Given the description of an element on the screen output the (x, y) to click on. 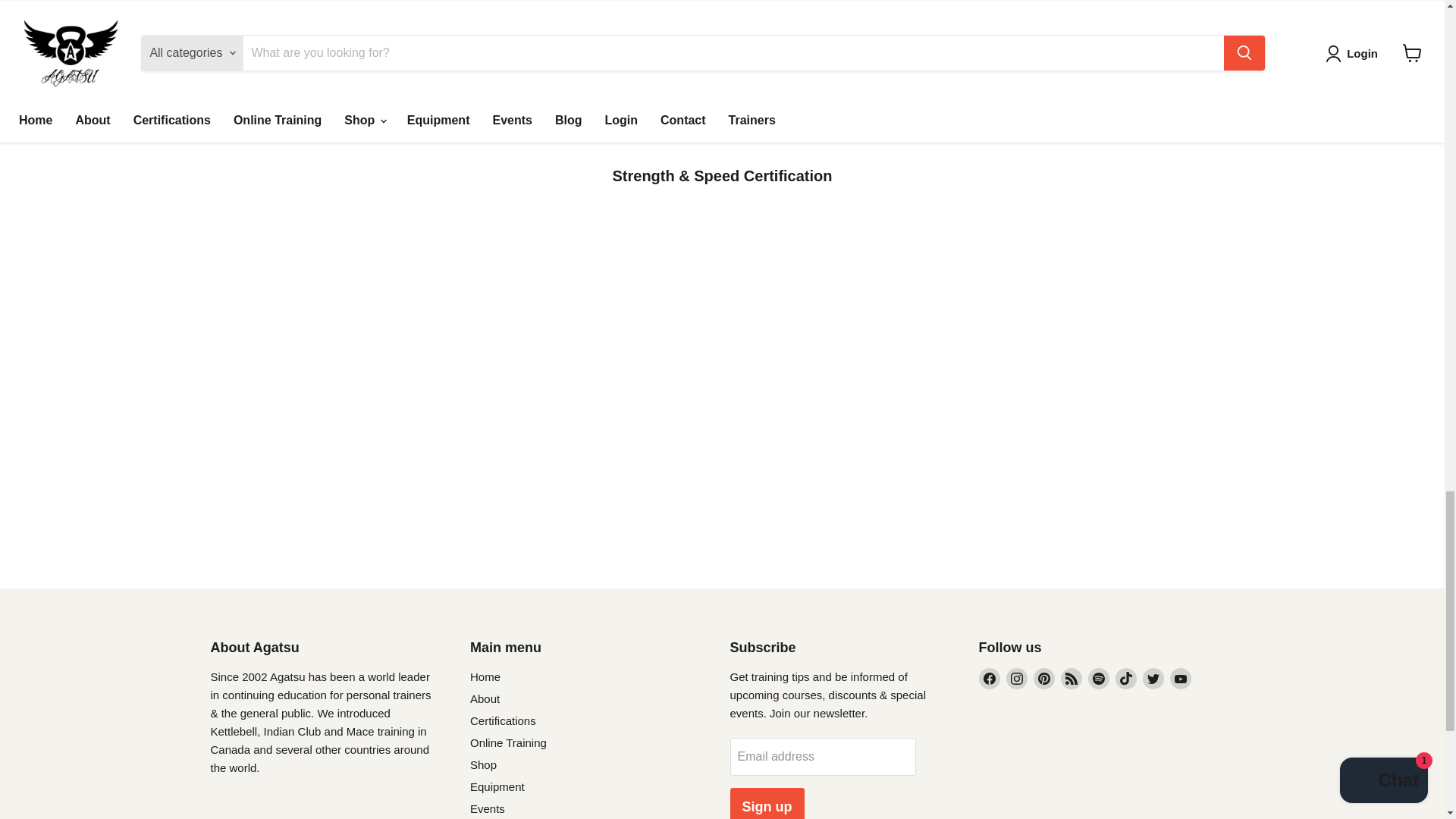
RSS (1070, 678)
Pinterest (1043, 678)
Facebook (988, 678)
TikTok (1125, 678)
Spotify (1097, 678)
YouTube (1180, 678)
Instagram (1016, 678)
Twitter (1152, 678)
